Given the description of an element on the screen output the (x, y) to click on. 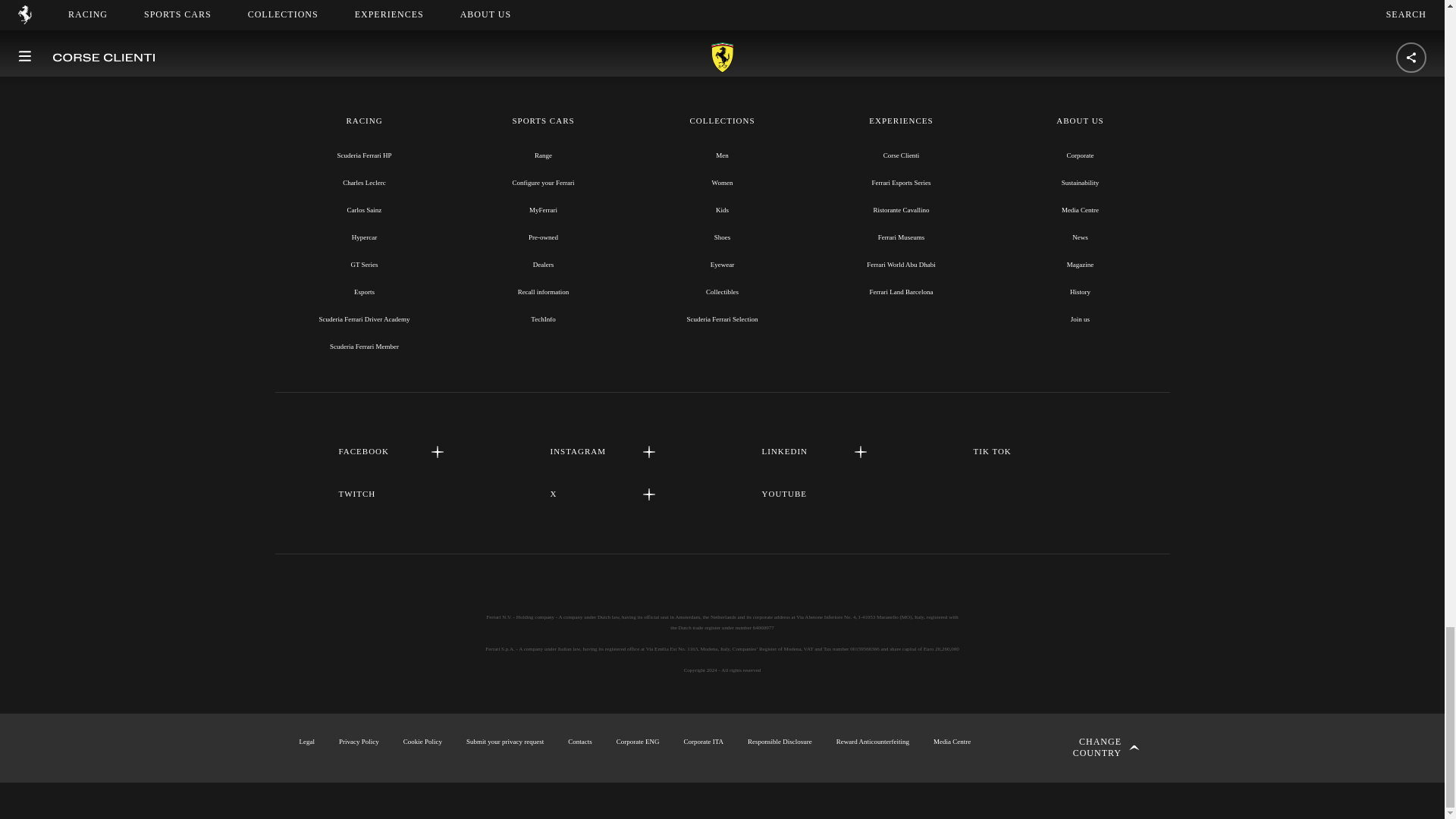
MyFerrari (543, 209)
Range (542, 154)
Scuderia Ferrari HP (363, 154)
Esports (363, 291)
Scuderia Ferrari Member (364, 346)
Pre-owned (542, 236)
Charles Leclerc (363, 182)
Change country (1090, 747)
GT Series (363, 264)
Configure your Ferrari (543, 182)
Hypercar (364, 236)
SUBSCRIBE (721, 2)
Dealers (542, 264)
Carlos Sainz (364, 209)
Scuderia Ferrari Driver Academy (363, 318)
